Given the description of an element on the screen output the (x, y) to click on. 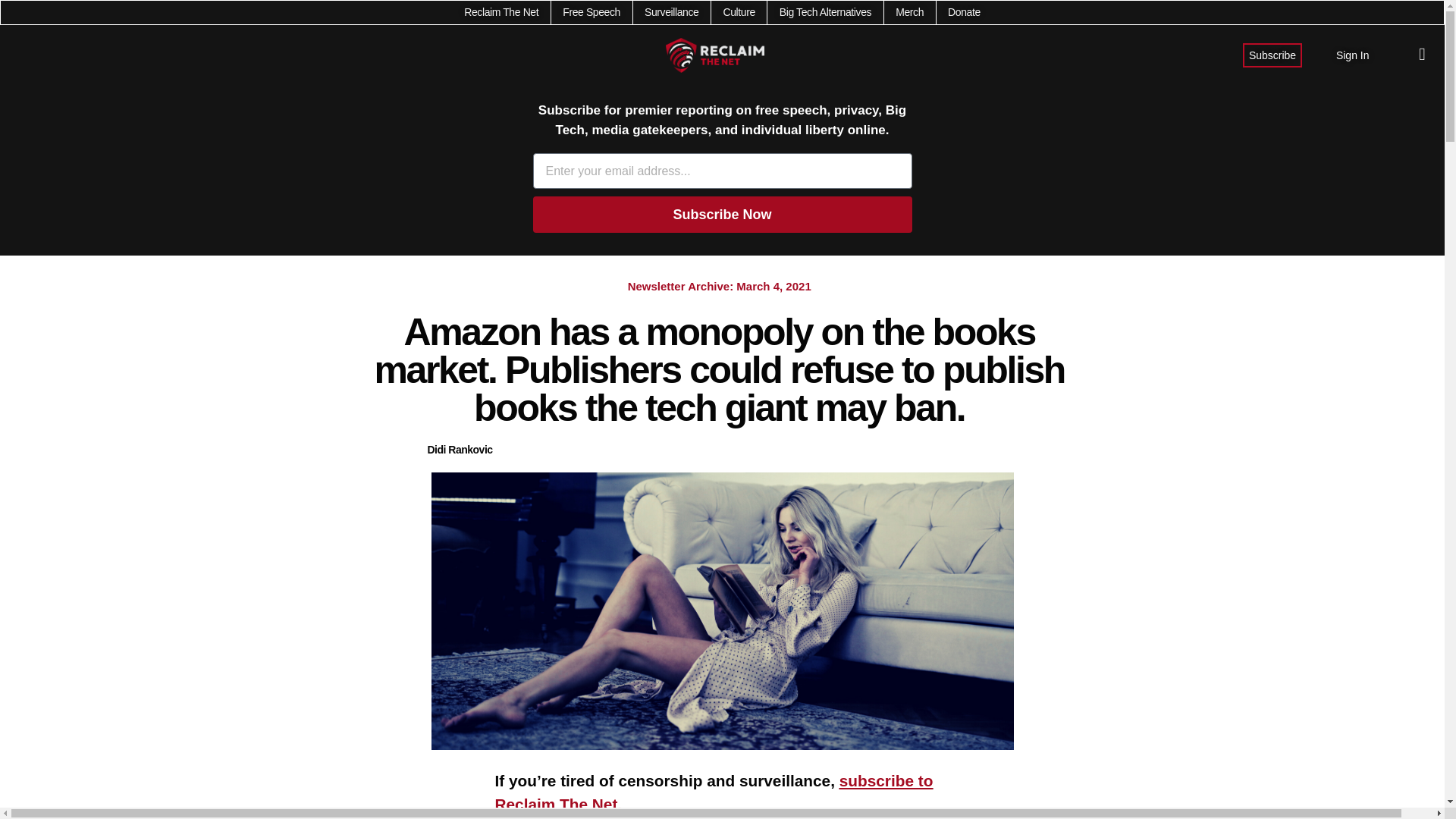
Surveillance (671, 12)
Free Speech (591, 12)
Didi Rankovic (460, 449)
Sign In (1353, 55)
Subscribe Now (721, 214)
Culture (738, 12)
Donate (963, 12)
Subscribe (1272, 55)
Merch (909, 12)
Reclaim The Net (501, 12)
